Given the description of an element on the screen output the (x, y) to click on. 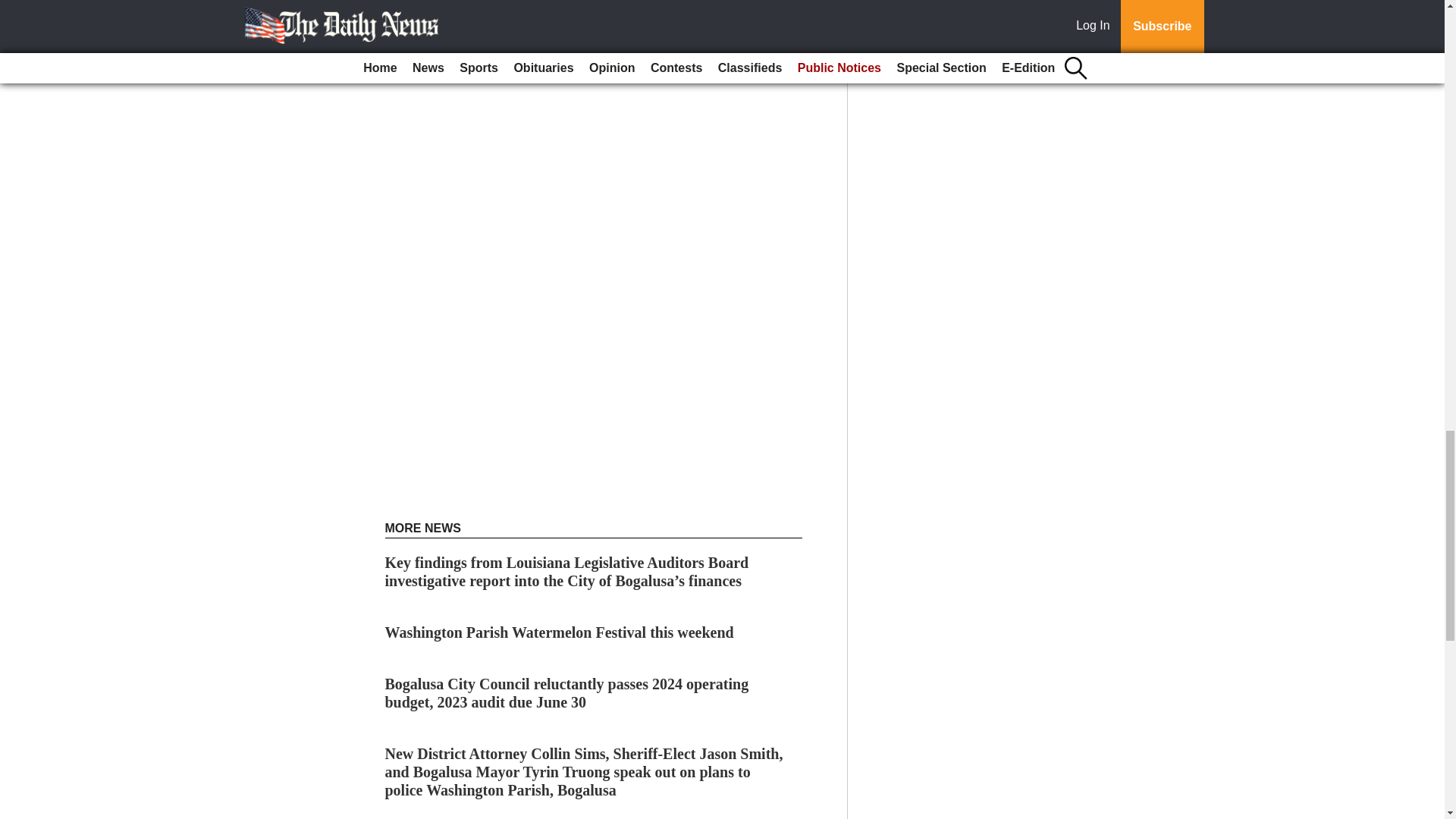
Washington Parish Watermelon Festival this weekend (559, 632)
Washington Parish Watermelon Festival this weekend (559, 632)
